Given the description of an element on the screen output the (x, y) to click on. 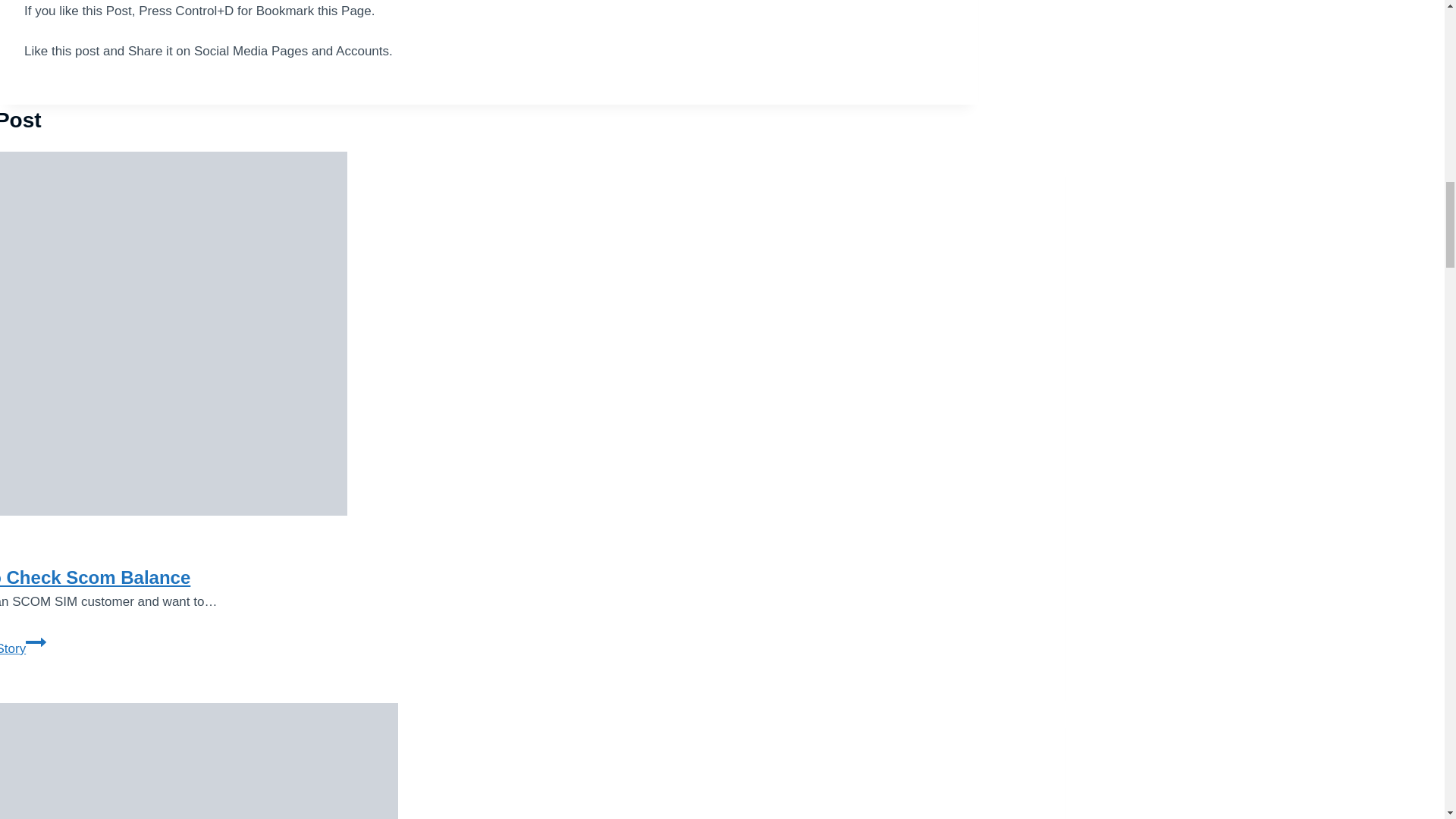
Continue (36, 641)
How To Check Scom Balance (95, 577)
Ufone Weekly Internet Package 100 Rs 4 (198, 760)
How To Check Scom Balance 3 (173, 333)
